Given the description of an element on the screen output the (x, y) to click on. 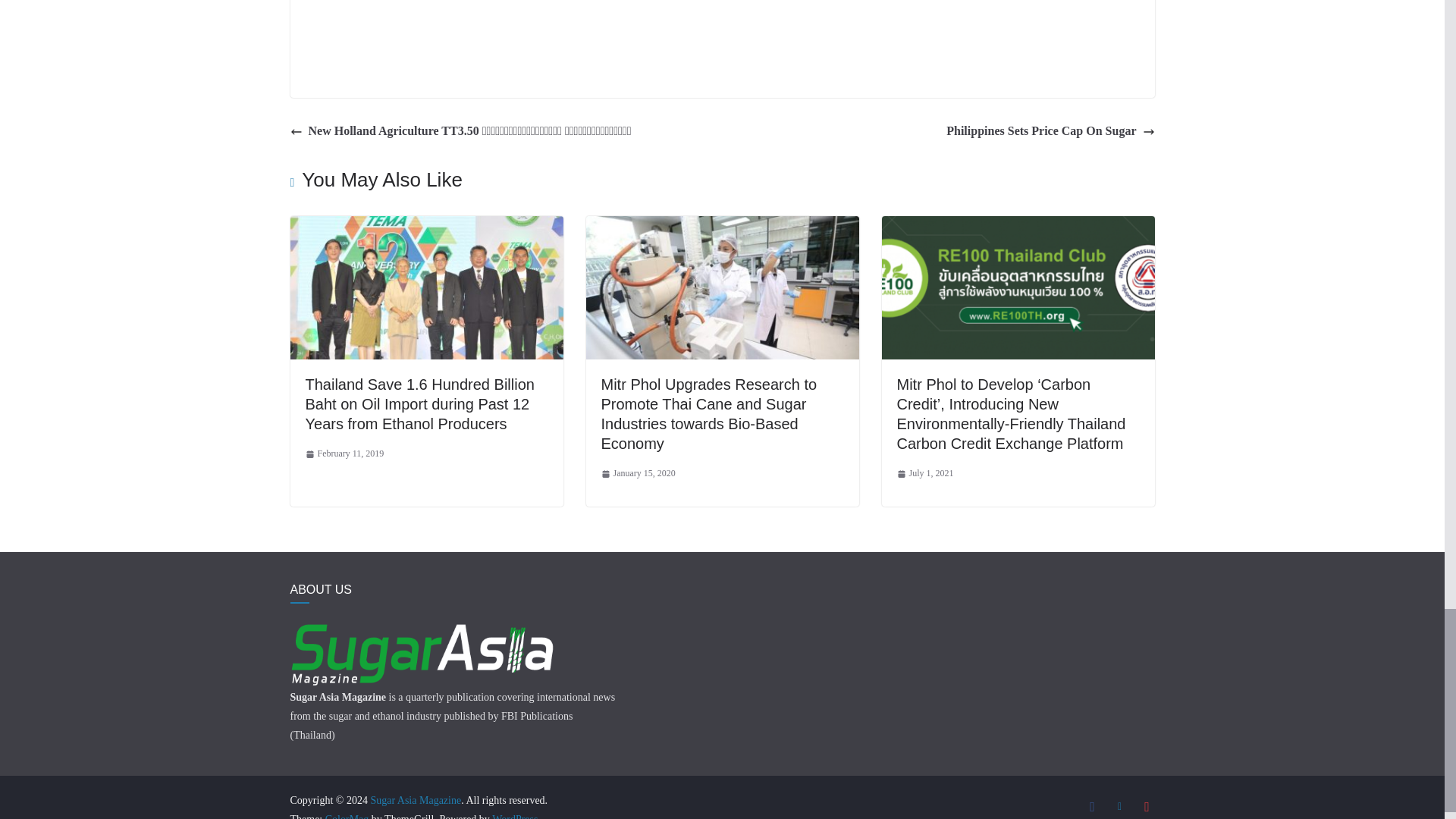
6:38 AM (344, 453)
8:50 AM (637, 474)
5:01 PM (924, 474)
